Given the description of an element on the screen output the (x, y) to click on. 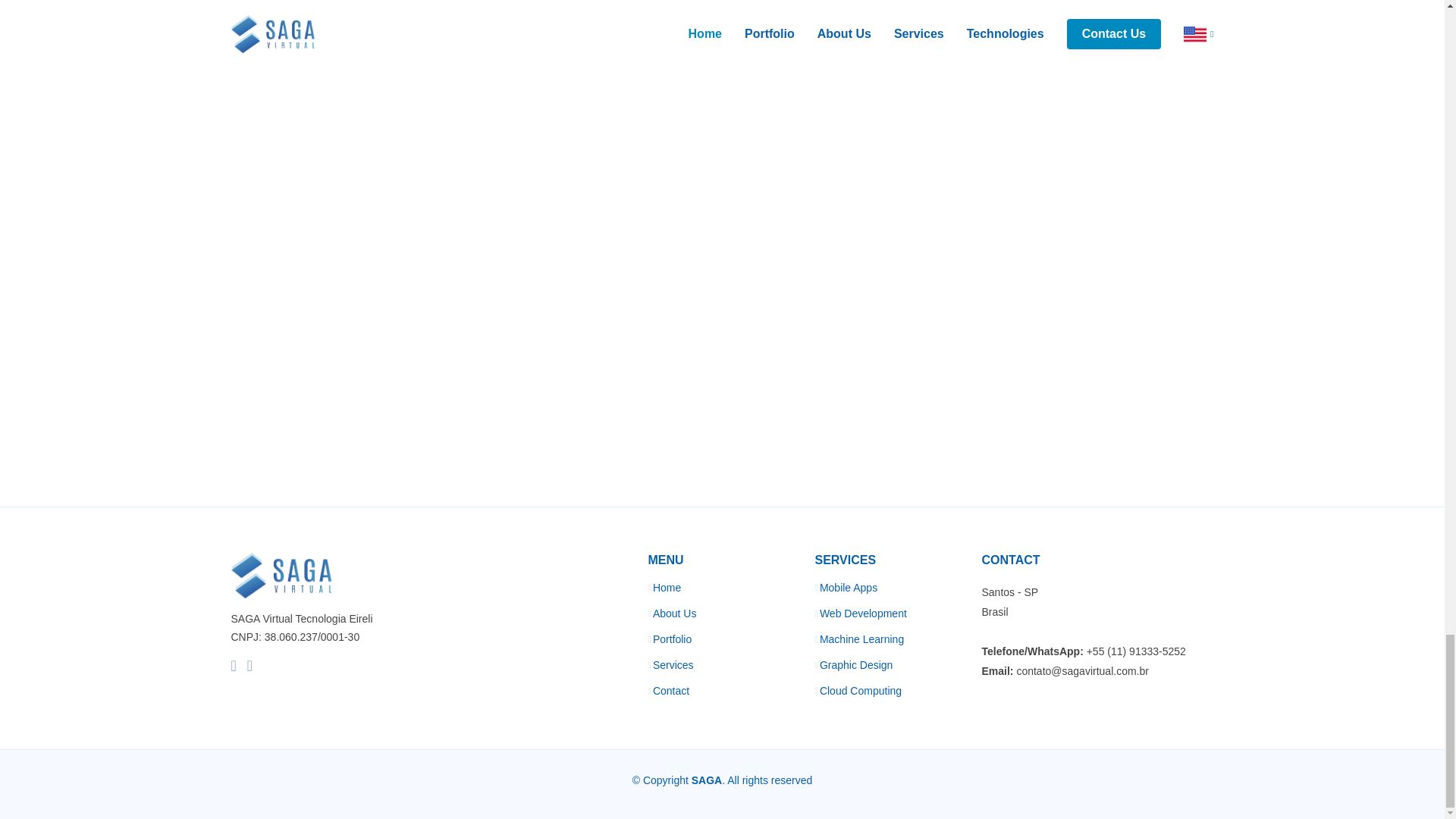
Web Development (863, 613)
Services (673, 665)
Mobile Apps (848, 587)
Cloud Computing (860, 690)
Contact (670, 690)
Portfolio (671, 638)
About Us (674, 613)
Graphic Design (856, 665)
Home (666, 587)
Machine Learning (861, 638)
